Given the description of an element on the screen output the (x, y) to click on. 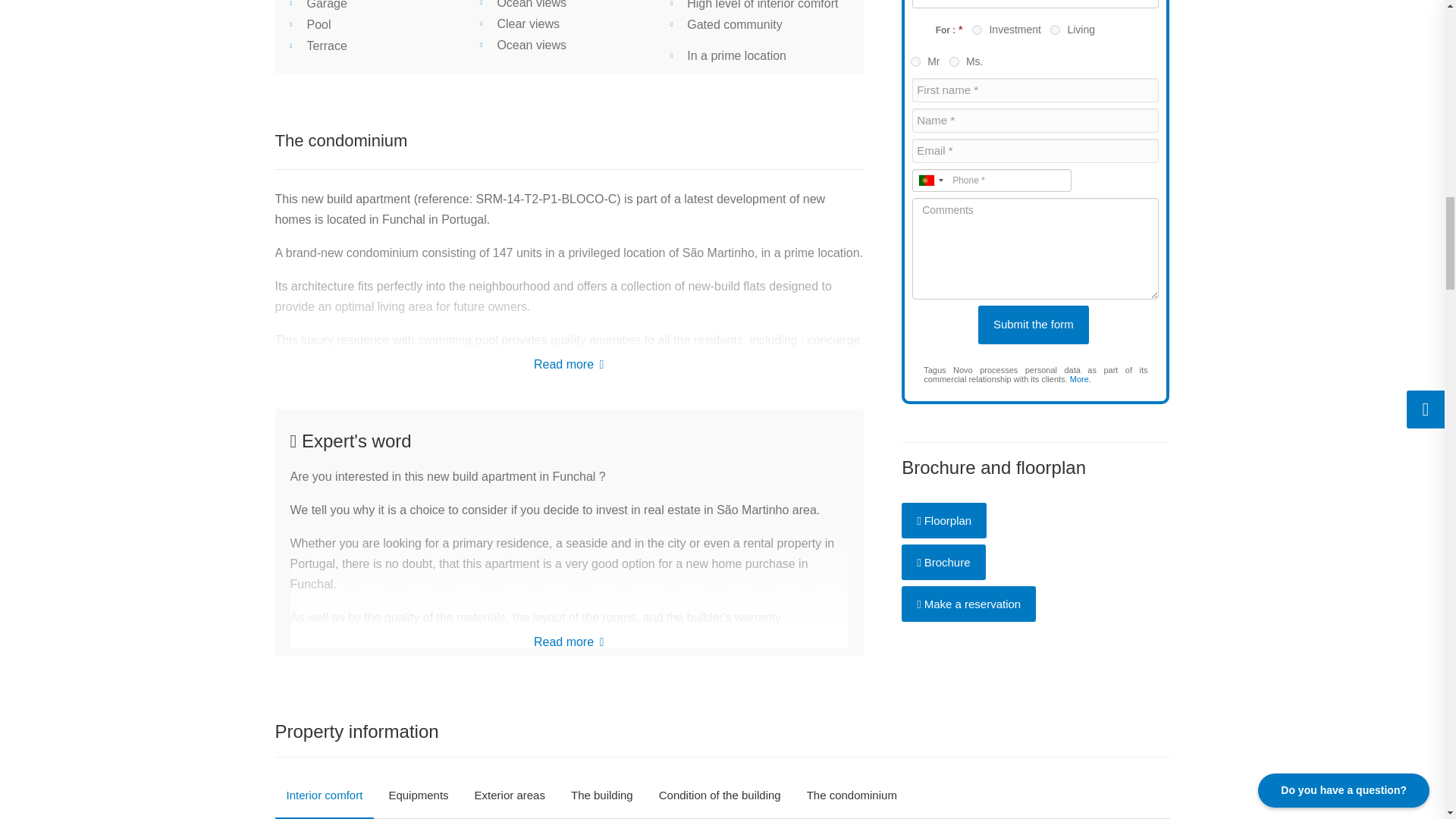
investment (976, 30)
M (915, 61)
habitation (1054, 30)
Submit the form (1033, 324)
F (954, 61)
